Given the description of an element on the screen output the (x, y) to click on. 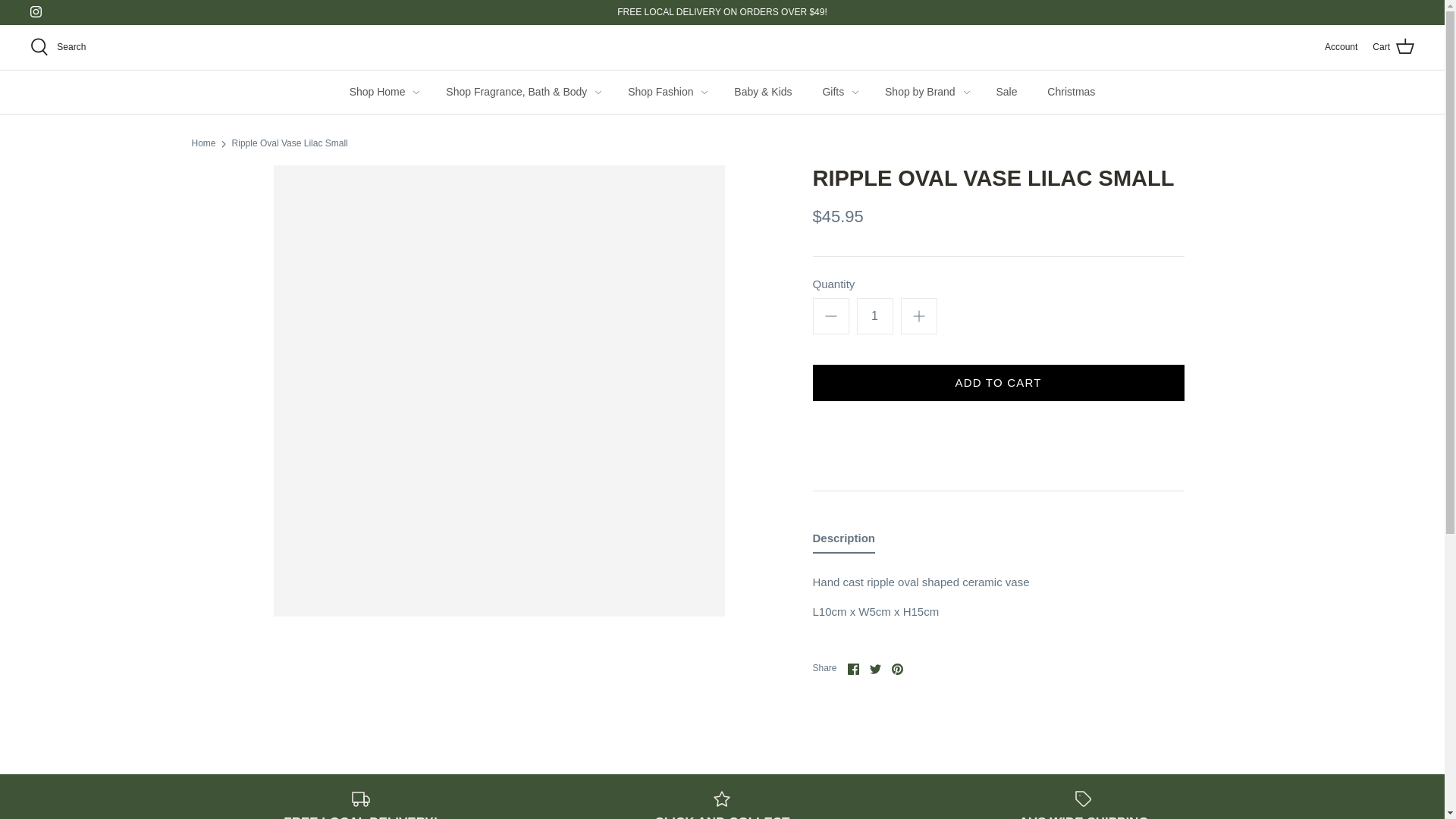
Cart (1393, 46)
Facebook (853, 668)
Label (1083, 799)
Twitter (874, 668)
Pinterest (896, 668)
Toggle menu (704, 91)
Toggle menu (598, 91)
Toggle menu (416, 91)
Toggle menu (966, 91)
Instagram (36, 11)
